Given the description of an element on the screen output the (x, y) to click on. 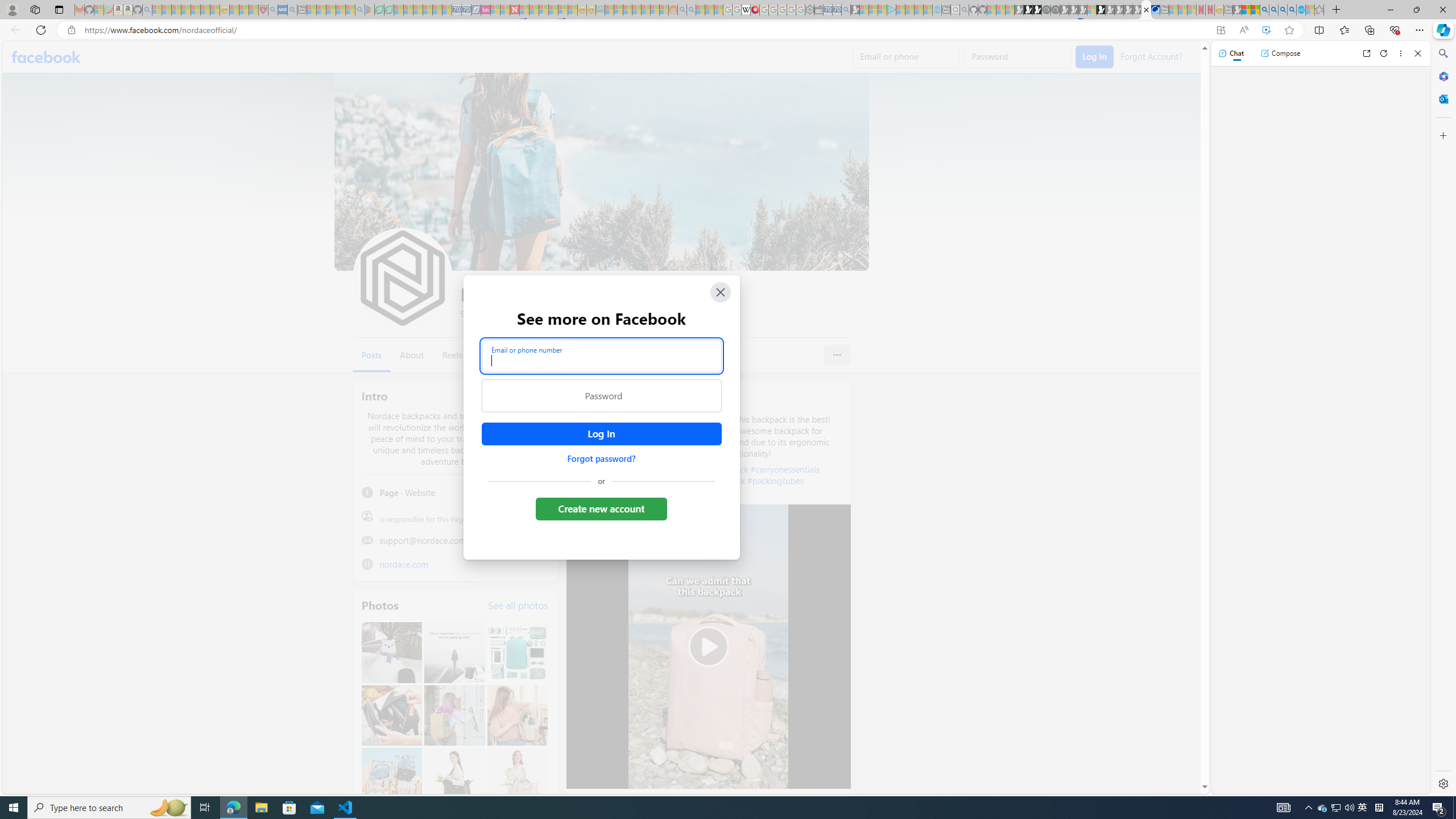
Email or phone (906, 56)
